Given the description of an element on the screen output the (x, y) to click on. 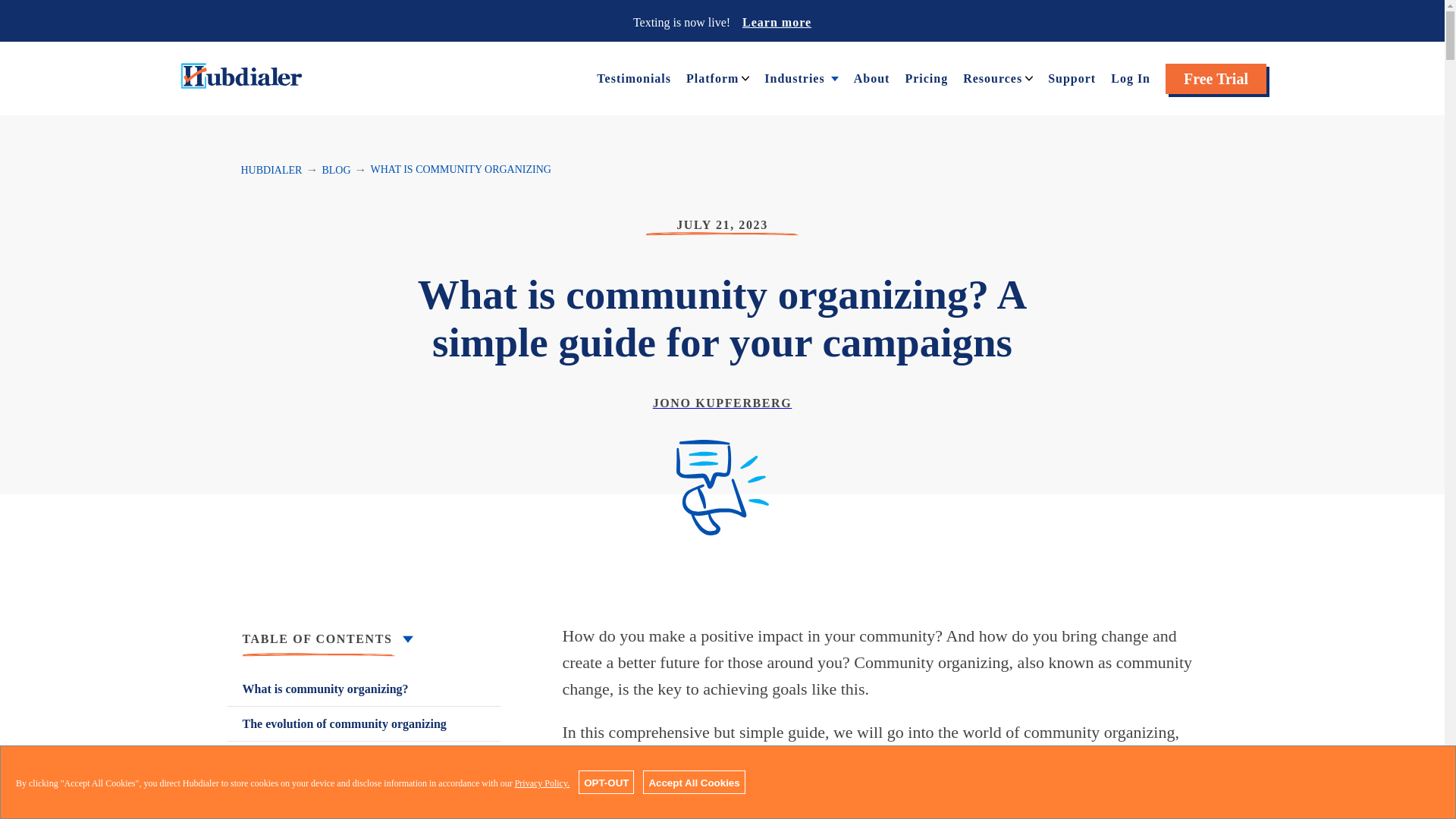
Accept All Cookies (693, 781)
OPT-OUT (605, 781)
WHAT IS COMMUNITY ORGANIZING (461, 169)
Industries (794, 77)
Privacy Policy. (542, 783)
Resources (992, 77)
Support (1072, 77)
What is community organizing? (363, 688)
Testimonials (633, 77)
About (871, 77)
Pricing (925, 77)
HUBDIALER (271, 170)
Platform (711, 77)
The evolution of community organizing (363, 723)
What is the first step in community organizing? (363, 768)
